Given the description of an element on the screen output the (x, y) to click on. 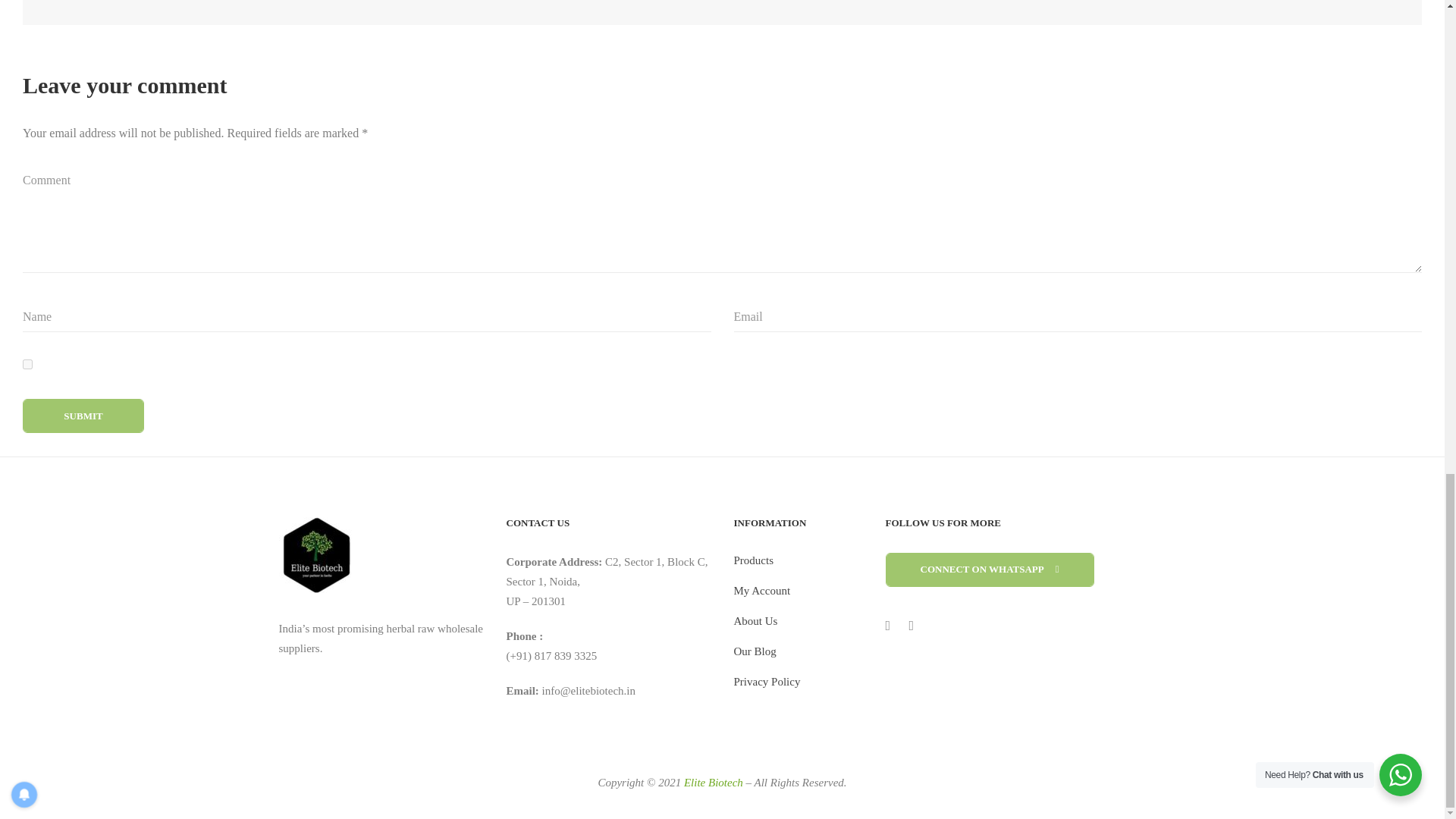
yes (27, 364)
Submit (83, 415)
